Given the description of an element on the screen output the (x, y) to click on. 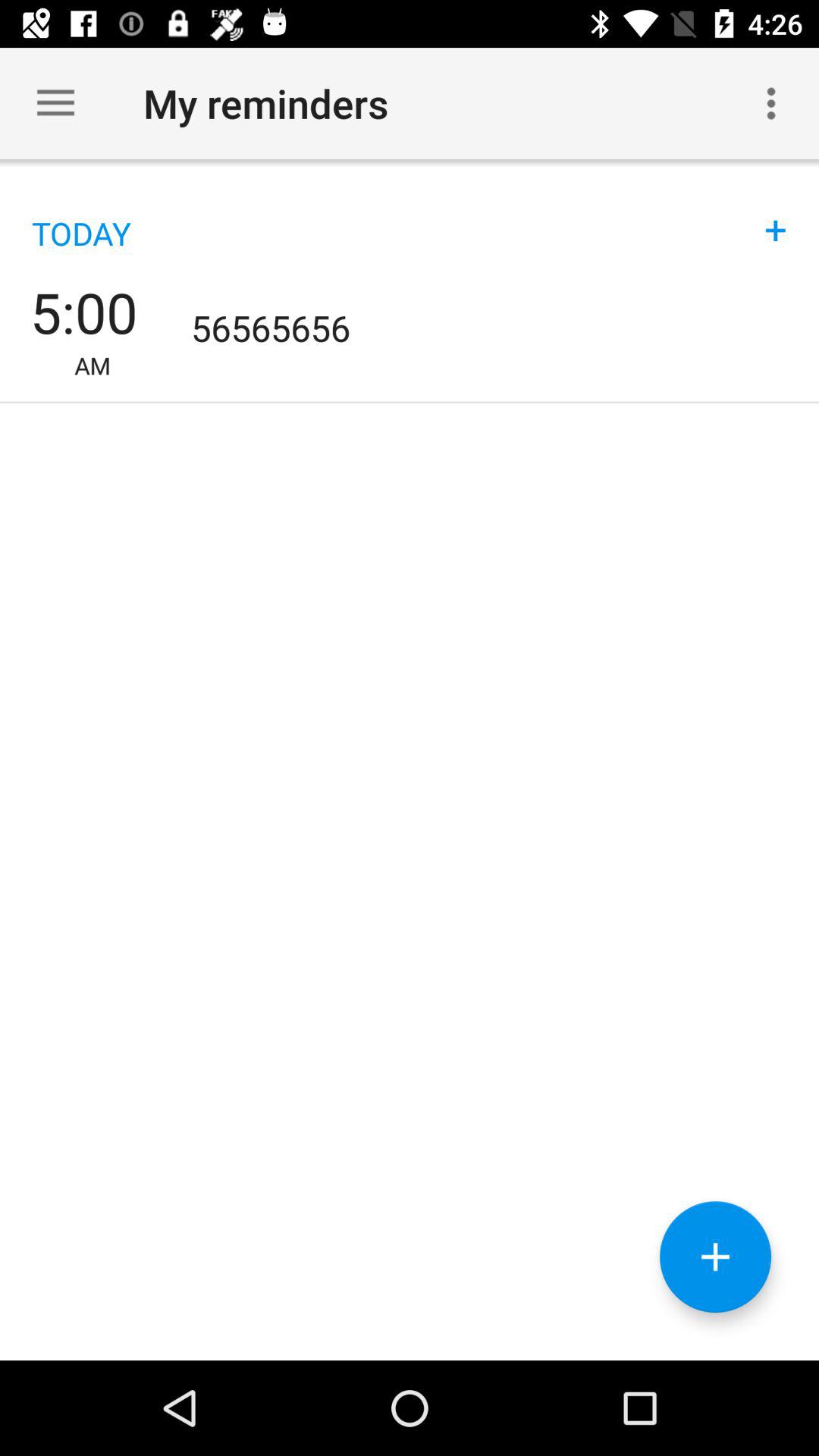
tap + icon (775, 214)
